Given the description of an element on the screen output the (x, y) to click on. 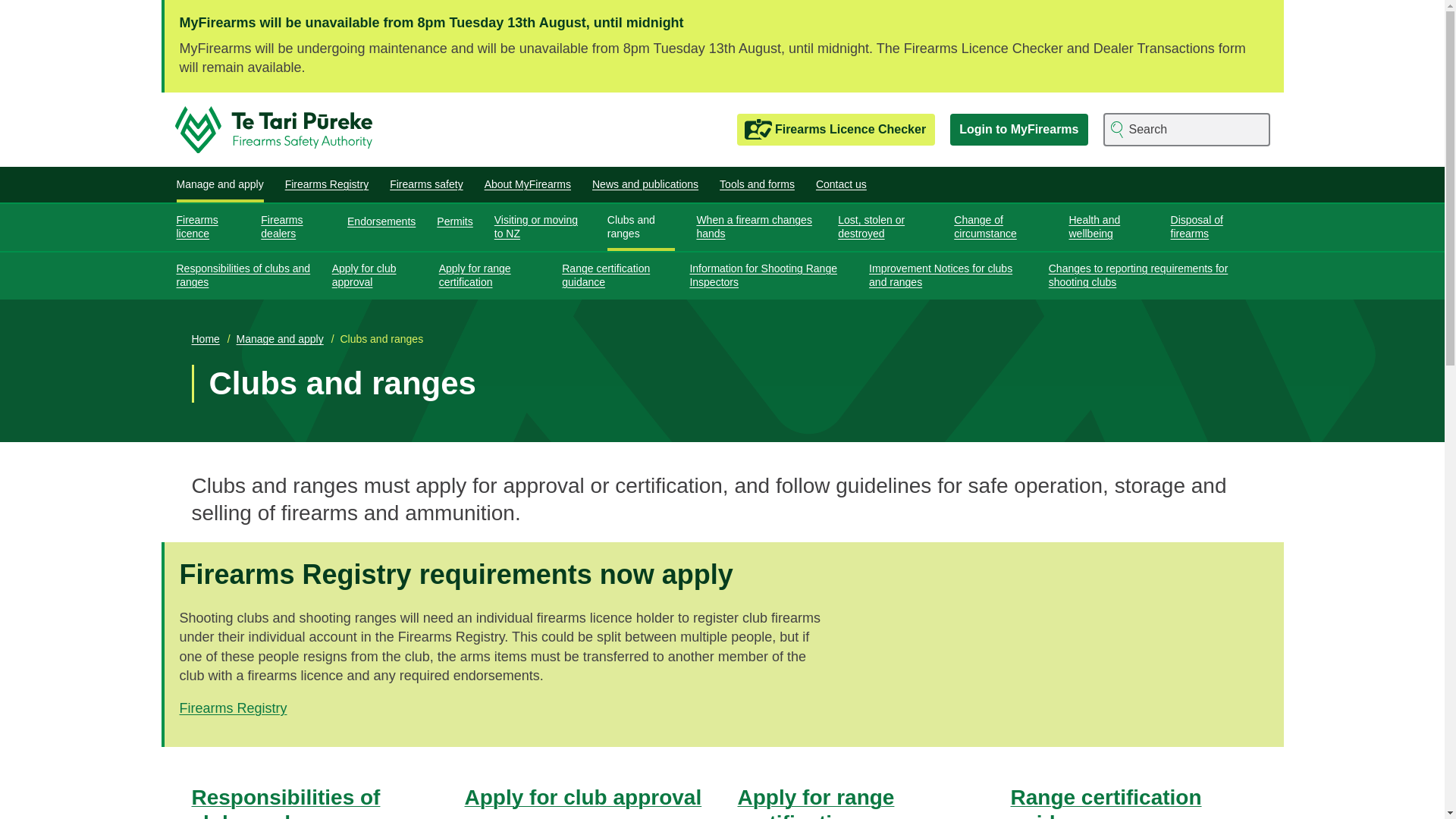
Home (279, 129)
Firearms Licence Checker (835, 129)
Login to MyFirearms (1018, 129)
Skip to main content (721, 1)
Enter the terms you wish to search for. (1185, 129)
